Given the description of an element on the screen output the (x, y) to click on. 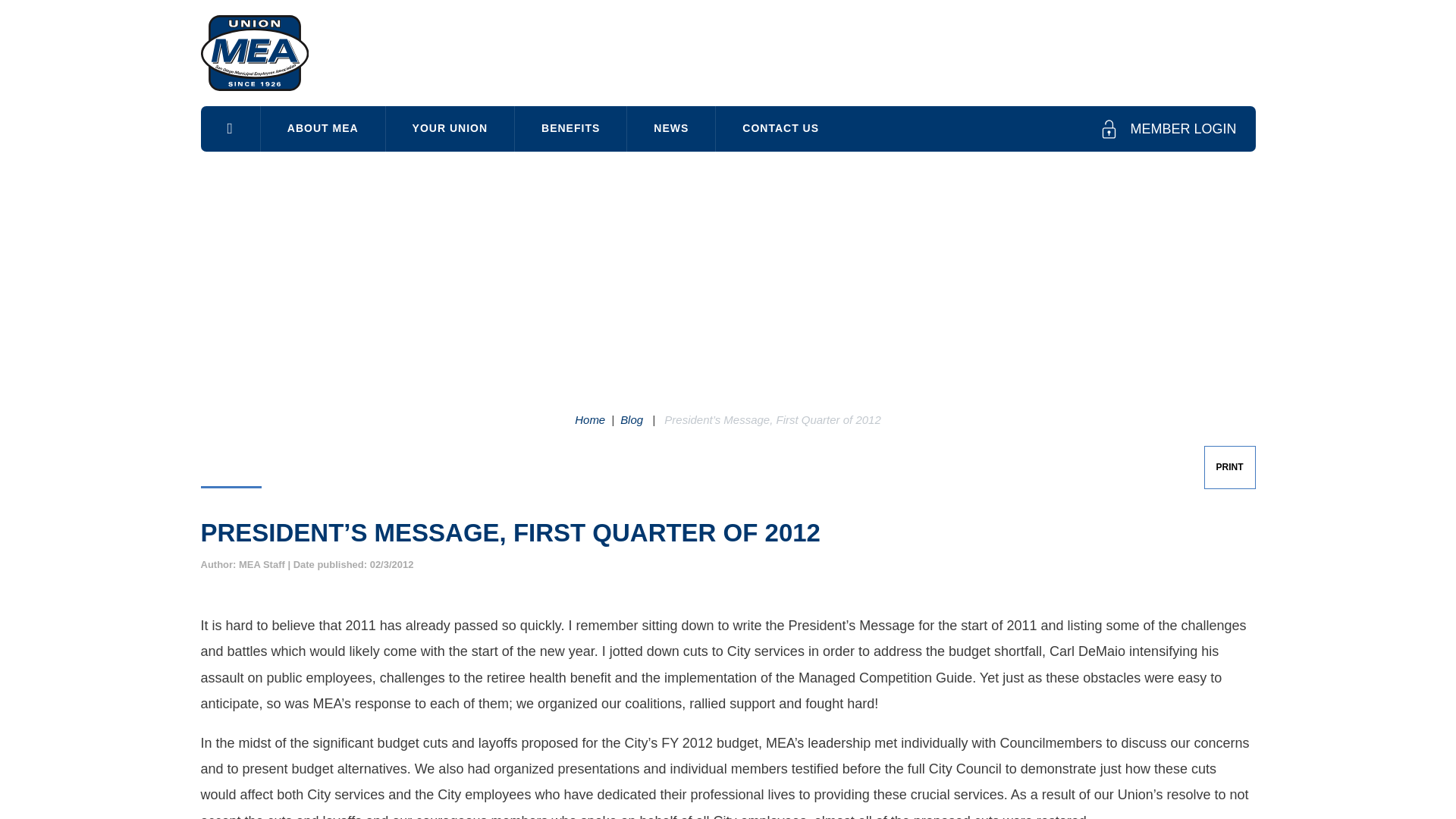
PRINT (1229, 466)
BENEFITS (570, 128)
MEMBER LOGIN (1167, 128)
Blog (631, 419)
Home (590, 419)
ABOUT MEA (322, 128)
home (229, 128)
YOUR UNION (449, 128)
NEWS (670, 128)
CONTACT US (780, 128)
